Given the description of an element on the screen output the (x, y) to click on. 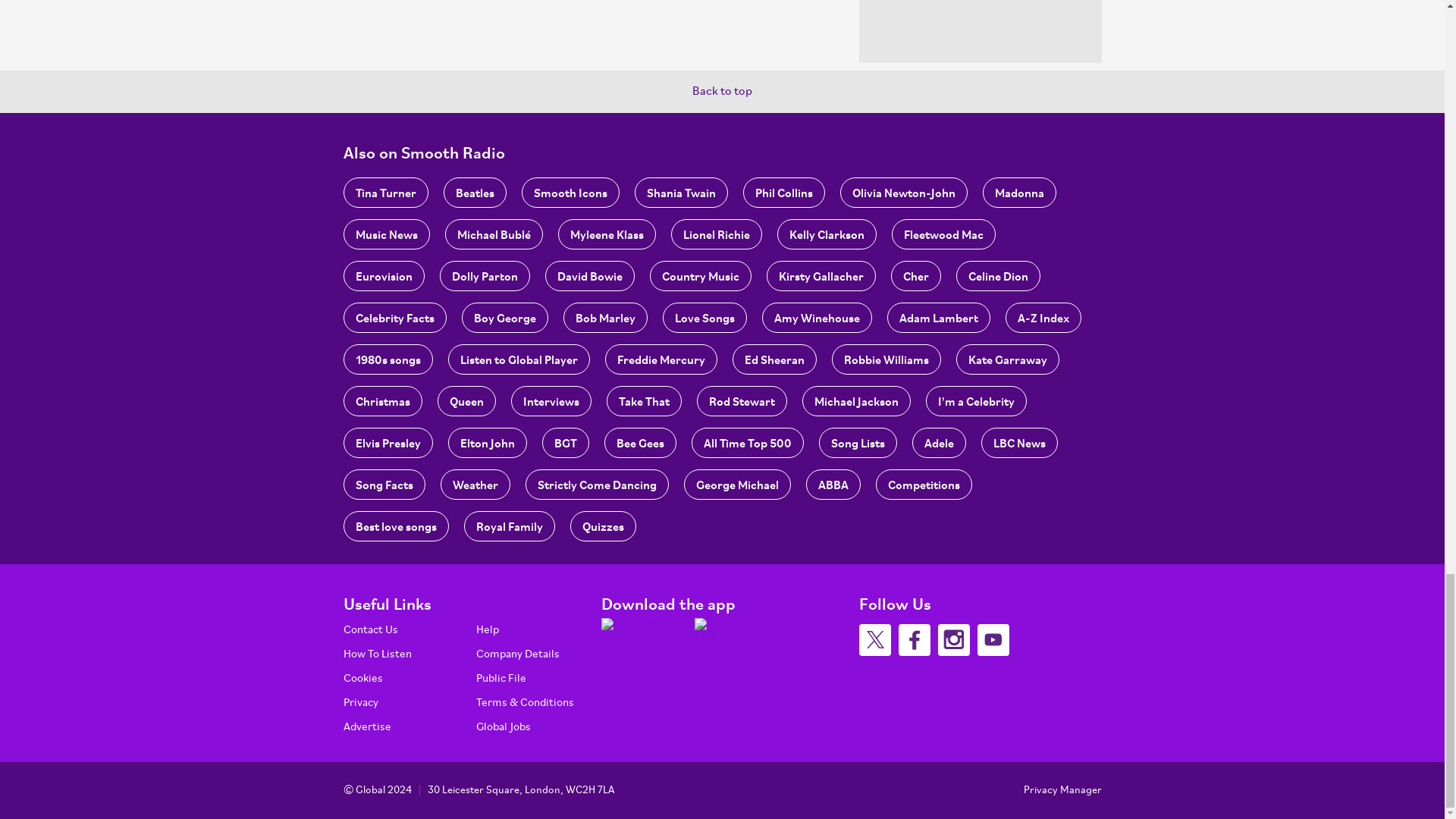
Follow Smooth on Instagram (953, 640)
Follow Smooth on X (874, 640)
Follow Smooth on Youtube (992, 640)
Follow Smooth on Facebook (914, 640)
Back to top (722, 91)
